Given the description of an element on the screen output the (x, y) to click on. 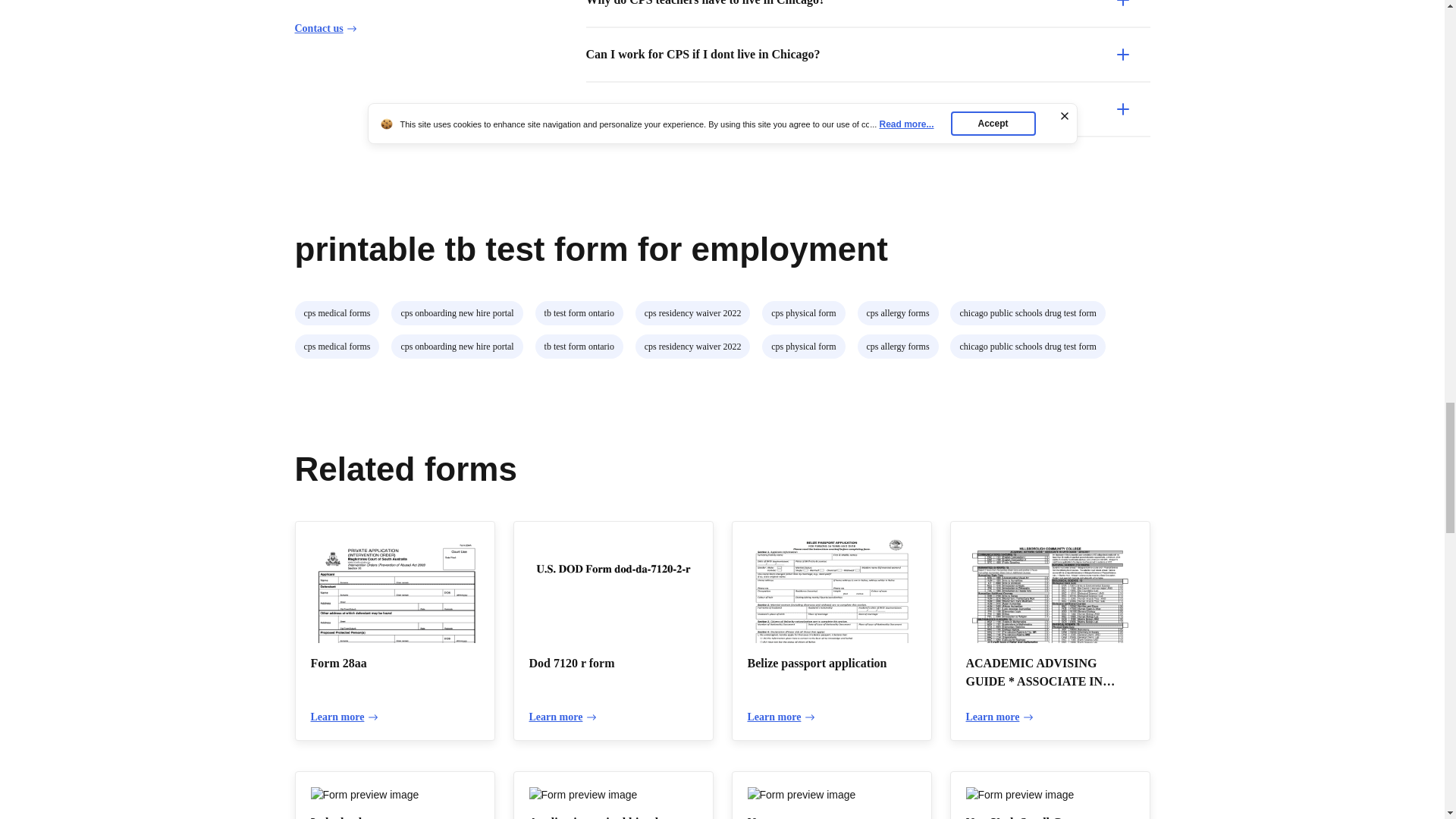
Contact us (325, 28)
Learn more (344, 717)
Learn more (999, 717)
Learn more (562, 717)
Learn more (781, 717)
